Given the description of an element on the screen output the (x, y) to click on. 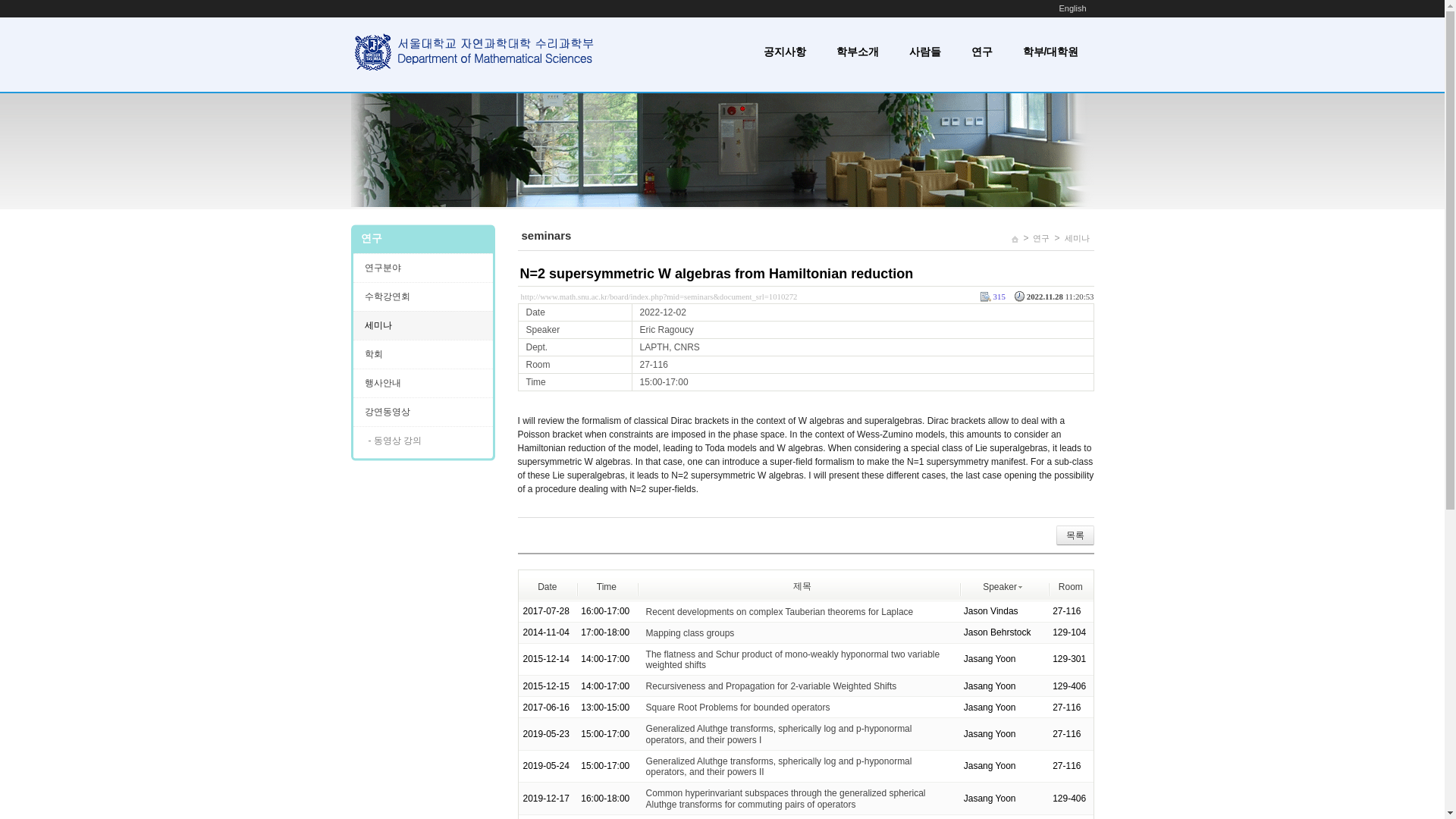
English (1072, 8)
Mapping class groups (690, 633)
Recursiveness and Propagation for 2-variable Weighted Shifts (771, 685)
Date (546, 585)
Time (605, 585)
Room (1070, 585)
Speaker (1002, 585)
